Given the description of an element on the screen output the (x, y) to click on. 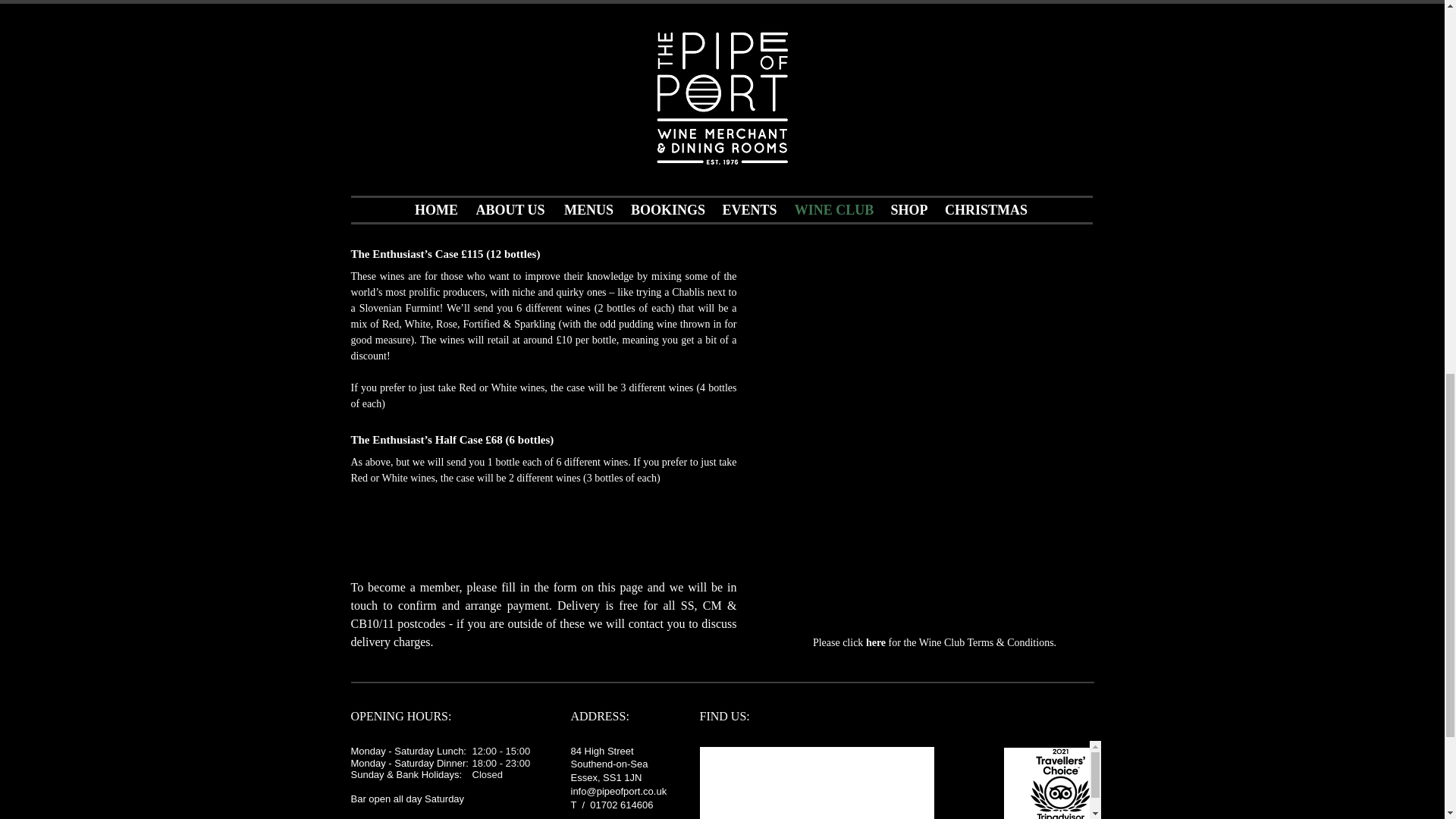
Google Maps (815, 782)
here (875, 642)
Embedded Content (1034, 780)
